Given the description of an element on the screen output the (x, y) to click on. 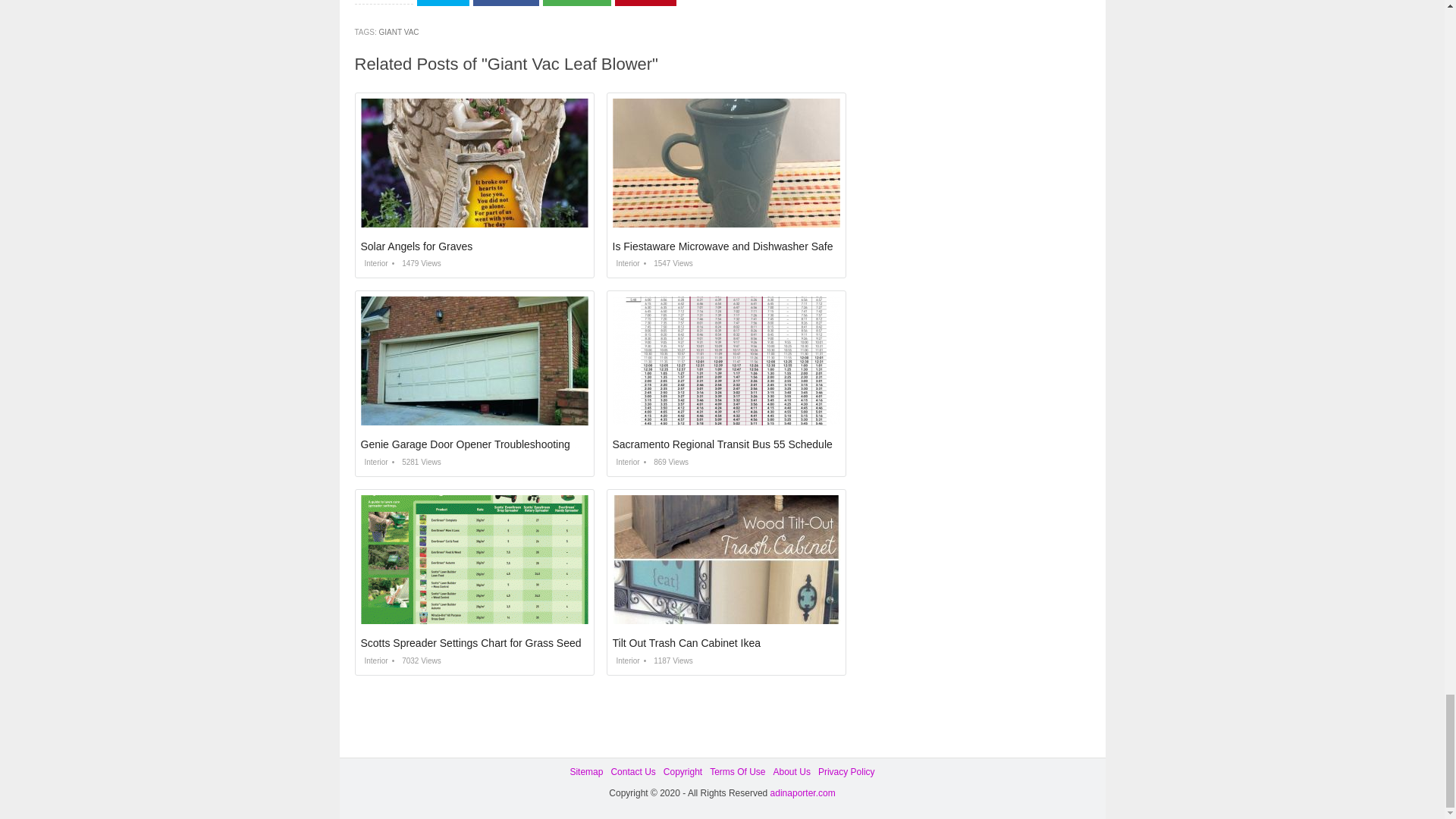
Tilt Out Trash Can Cabinet Ikea (686, 643)
Is Fiestaware Microwave and Dishwasher Safe (722, 246)
Genie Garage Door Opener Troubleshooting Red Light Blinking (510, 444)
Scotts Spreader Settings Chart for Grass Seed (470, 643)
GIANT VAC (398, 31)
Interior (374, 461)
Interior (374, 263)
Interior (626, 660)
WhatsApp (577, 2)
Interior (374, 660)
Interior (626, 263)
Pinterest (645, 2)
Twitter (442, 2)
Sacramento Regional Transit Bus 55 Schedule (722, 444)
Facebook (505, 2)
